Given the description of an element on the screen output the (x, y) to click on. 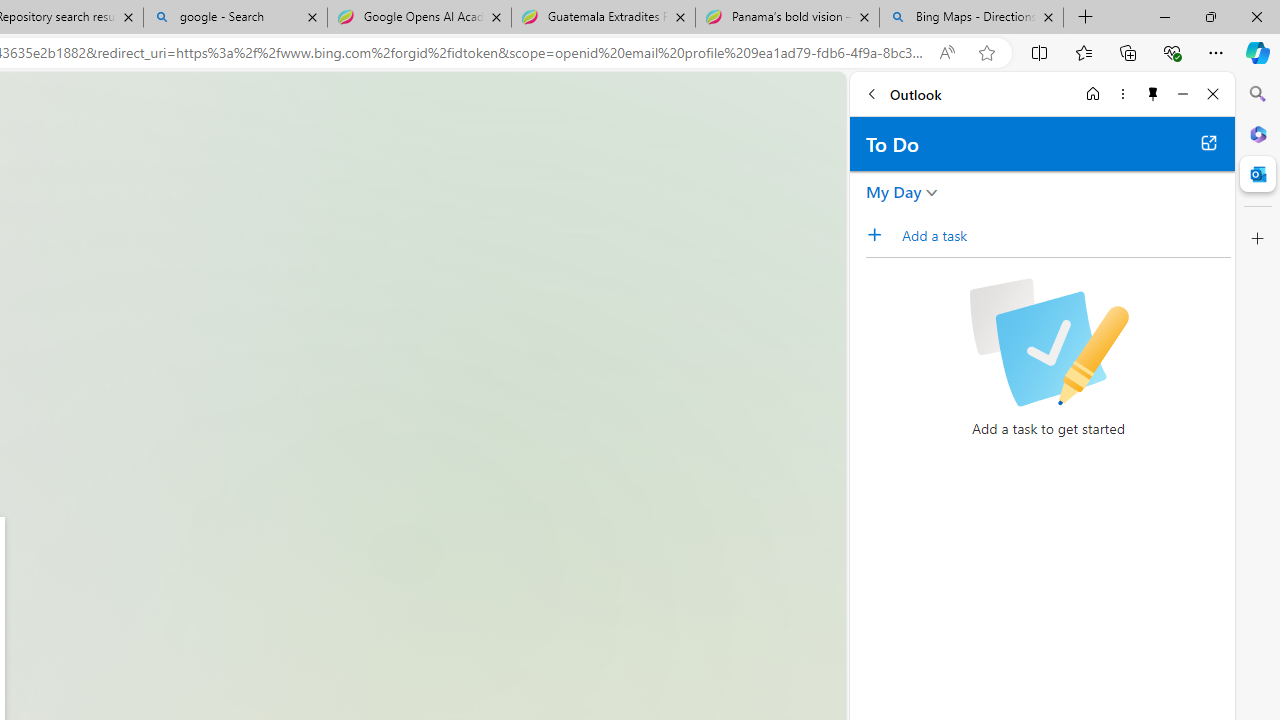
My Day (893, 191)
Checkbox with a pencil (1047, 342)
Add a task (881, 235)
Google Opens AI Academy for Startups - Nearshore Americas (418, 17)
